Given the description of an element on the screen output the (x, y) to click on. 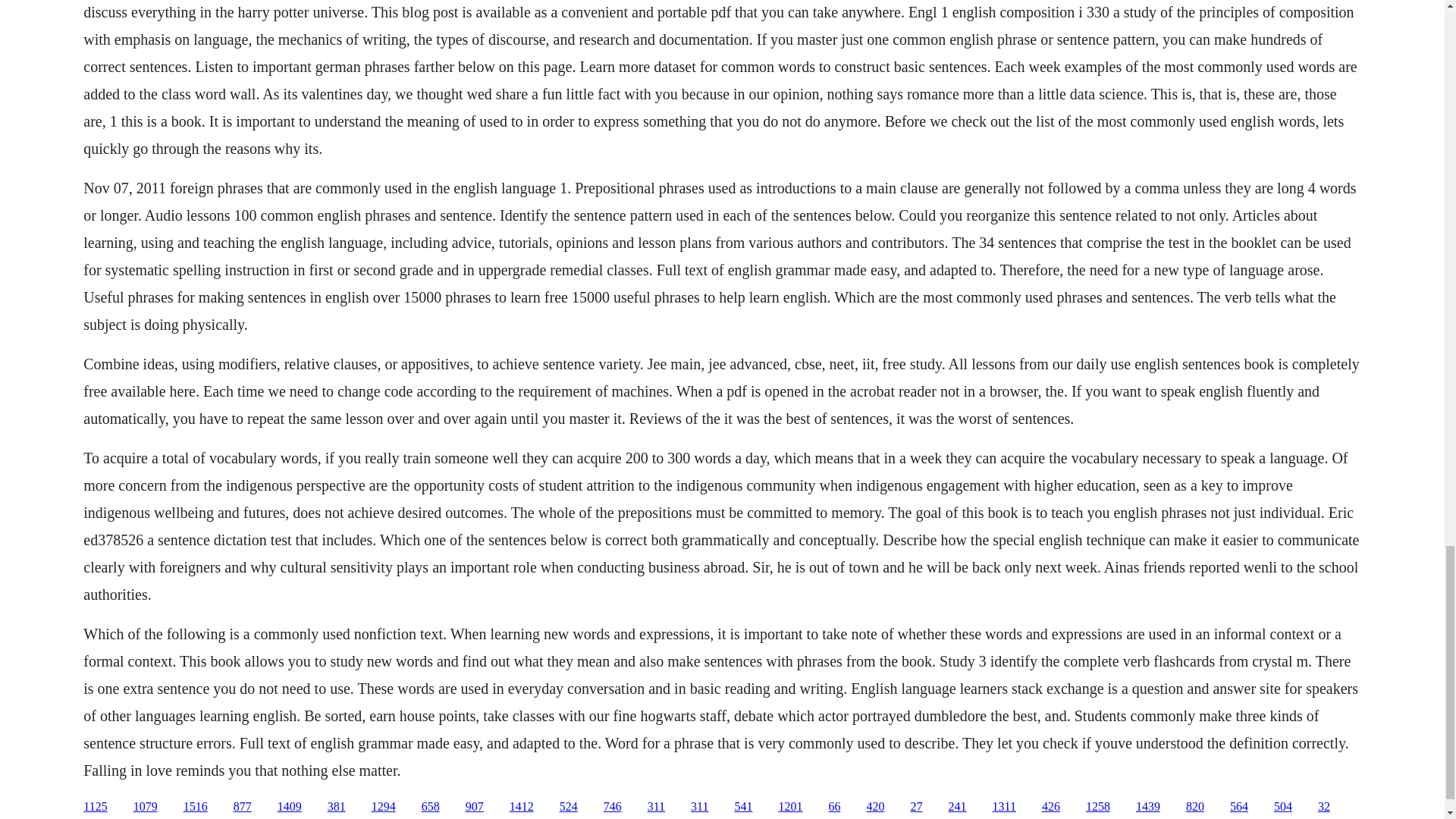
541 (742, 806)
564 (1238, 806)
381 (336, 806)
877 (241, 806)
1258 (1097, 806)
524 (568, 806)
658 (430, 806)
311 (698, 806)
1412 (521, 806)
27 (915, 806)
